Given the description of an element on the screen output the (x, y) to click on. 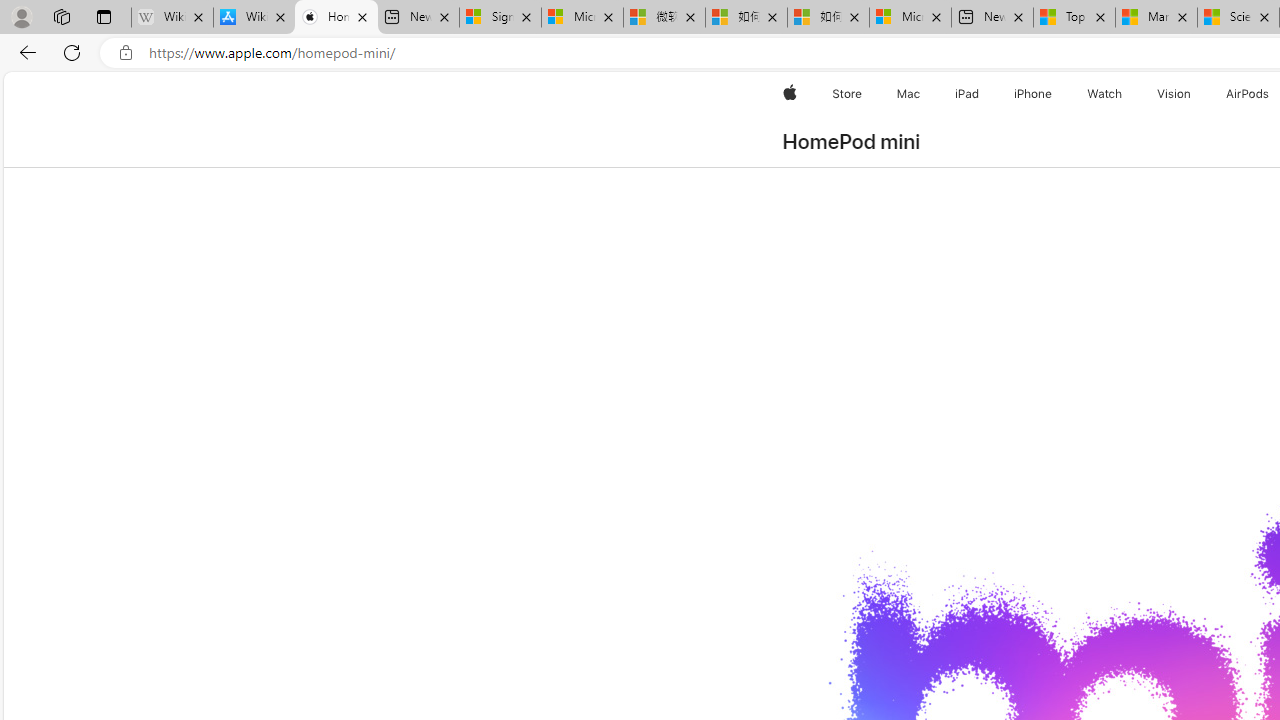
Apple (789, 93)
Vision (1174, 93)
Mac (908, 93)
iPad menu (982, 93)
Microsoft account | Account Checkup (910, 17)
Class: globalnav-submenu-trigger-item (1195, 93)
iPhone (1033, 93)
iPad (965, 93)
Wikipedia - Sleeping (171, 17)
HomePod mini (851, 142)
